Given the description of an element on the screen output the (x, y) to click on. 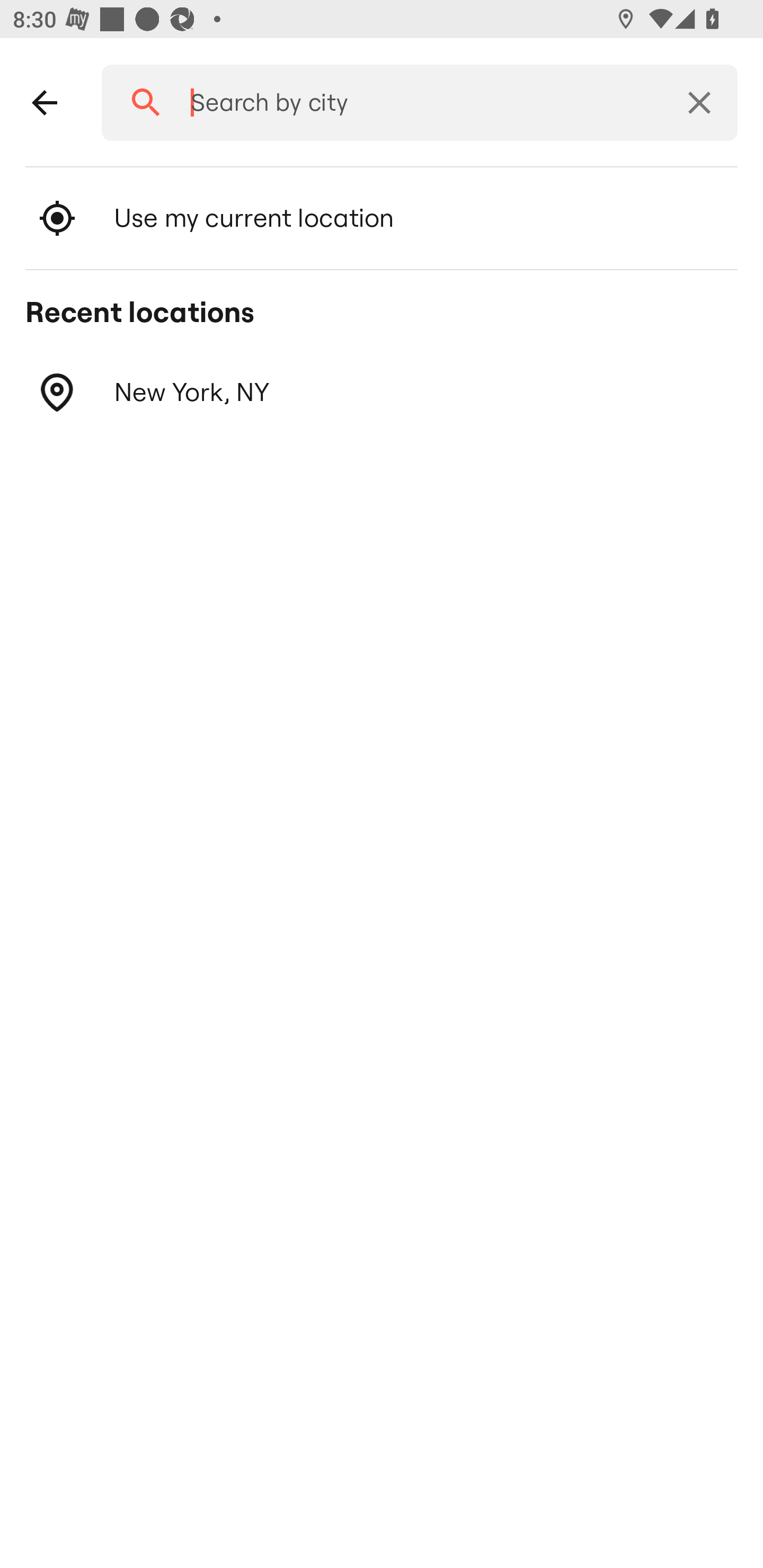
Back (44, 102)
Search by city (413, 102)
Clear (699, 102)
Use my current location (381, 218)
New York, NY (381, 392)
